Given the description of an element on the screen output the (x, y) to click on. 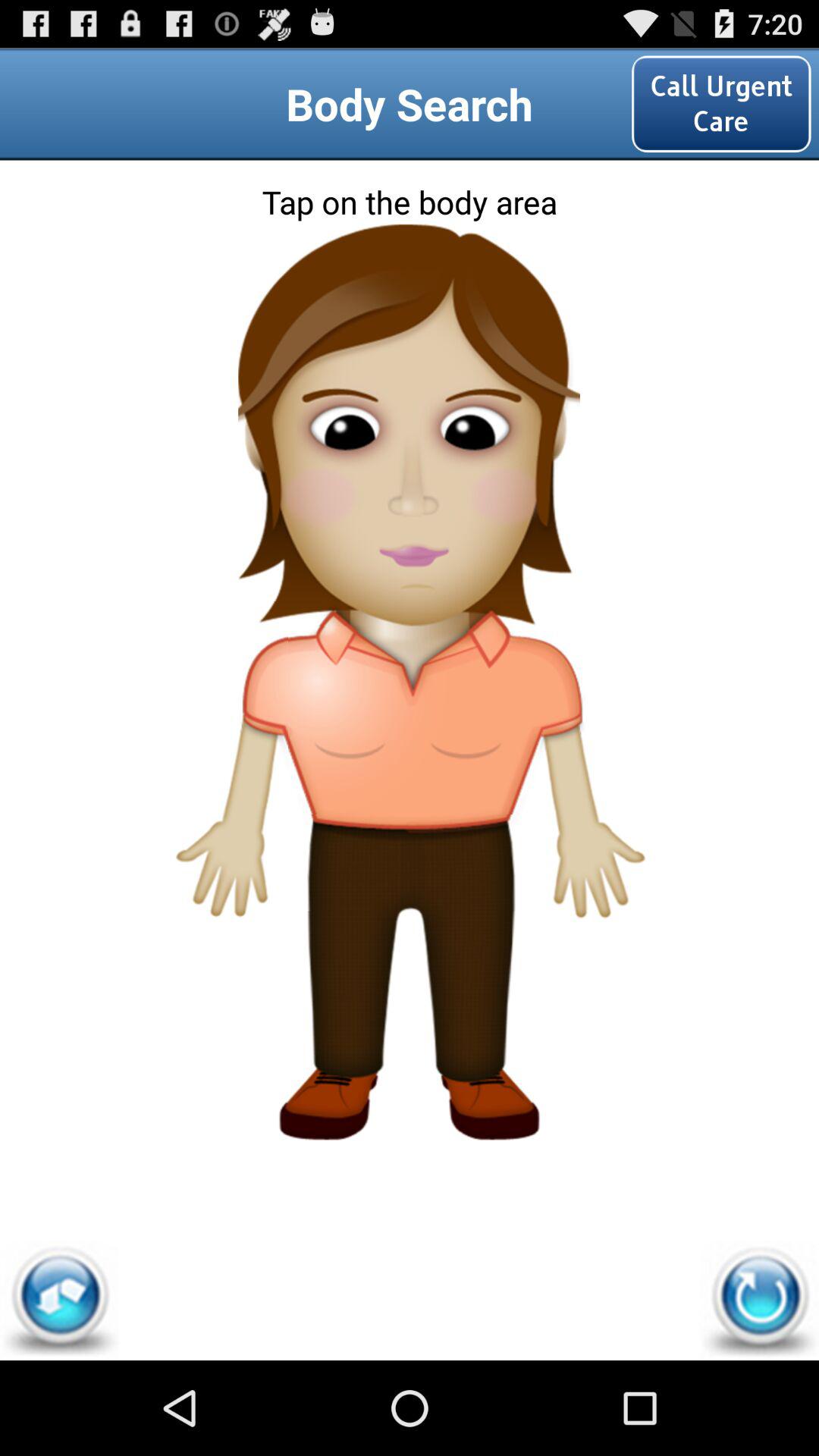
legs and feet (409, 1025)
